Given the description of an element on the screen output the (x, y) to click on. 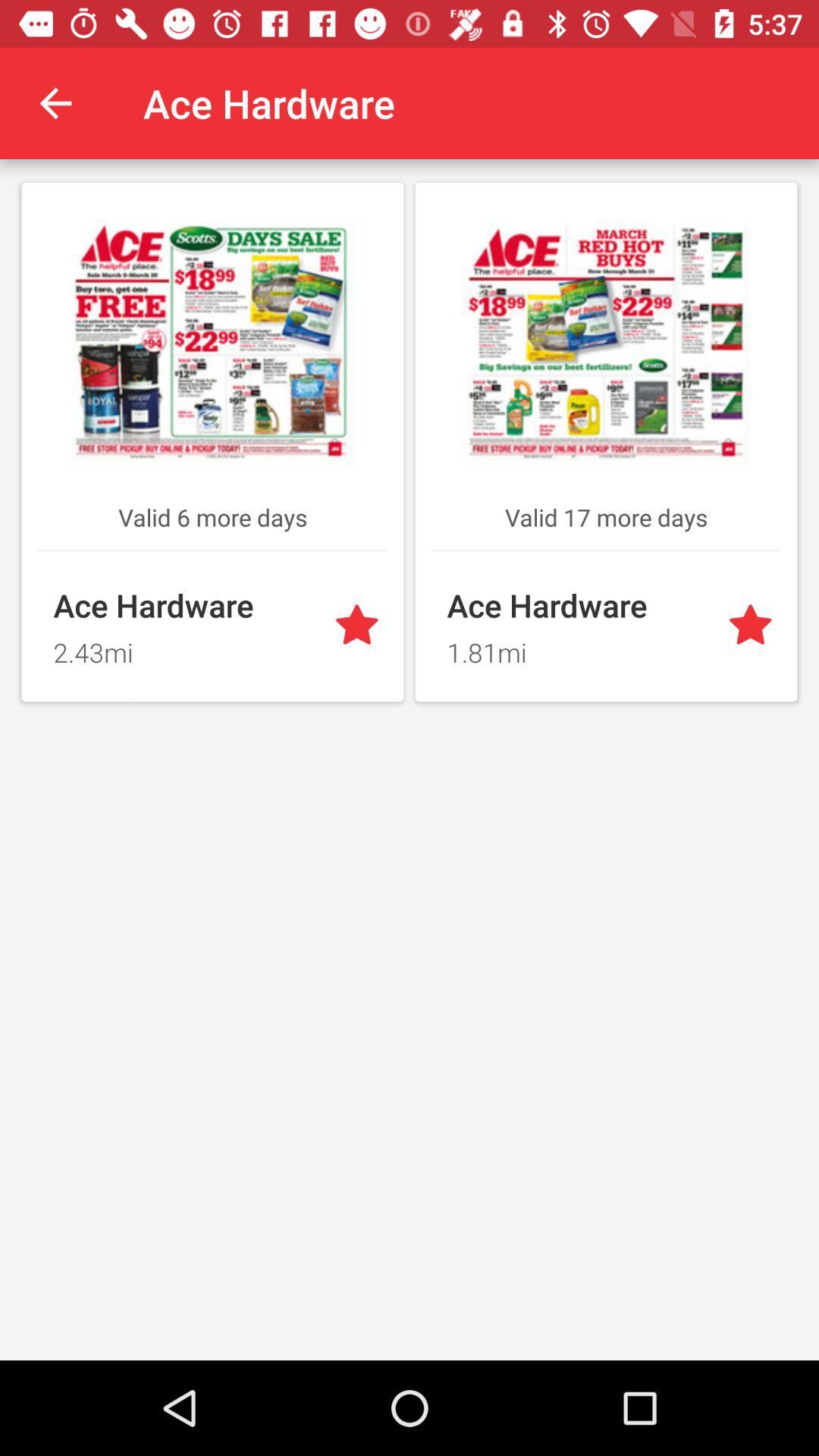
toggle favourite option (753, 626)
